Given the description of an element on the screen output the (x, y) to click on. 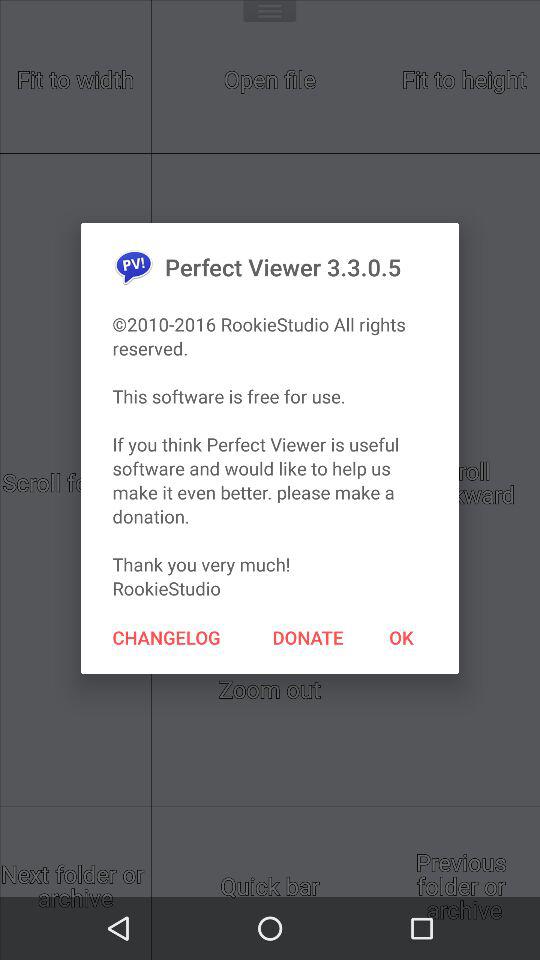
tap the changelog item (166, 637)
